Given the description of an element on the screen output the (x, y) to click on. 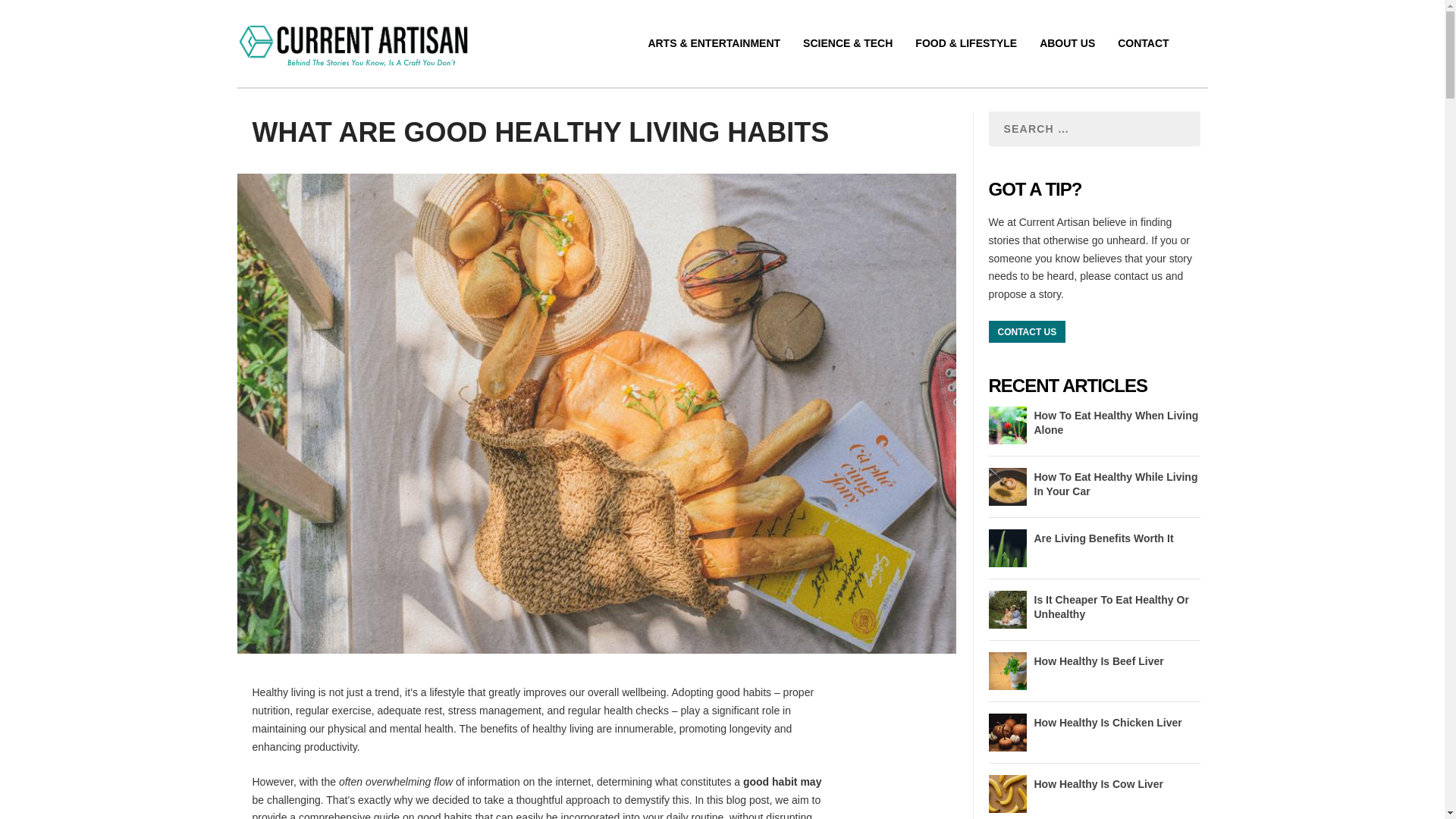
CONTACT US (1026, 332)
How To Eat Healthy When Living Alone (1116, 422)
Search (227, 12)
CONTACT (1143, 61)
ABOUT US (1066, 61)
